Given the description of an element on the screen output the (x, y) to click on. 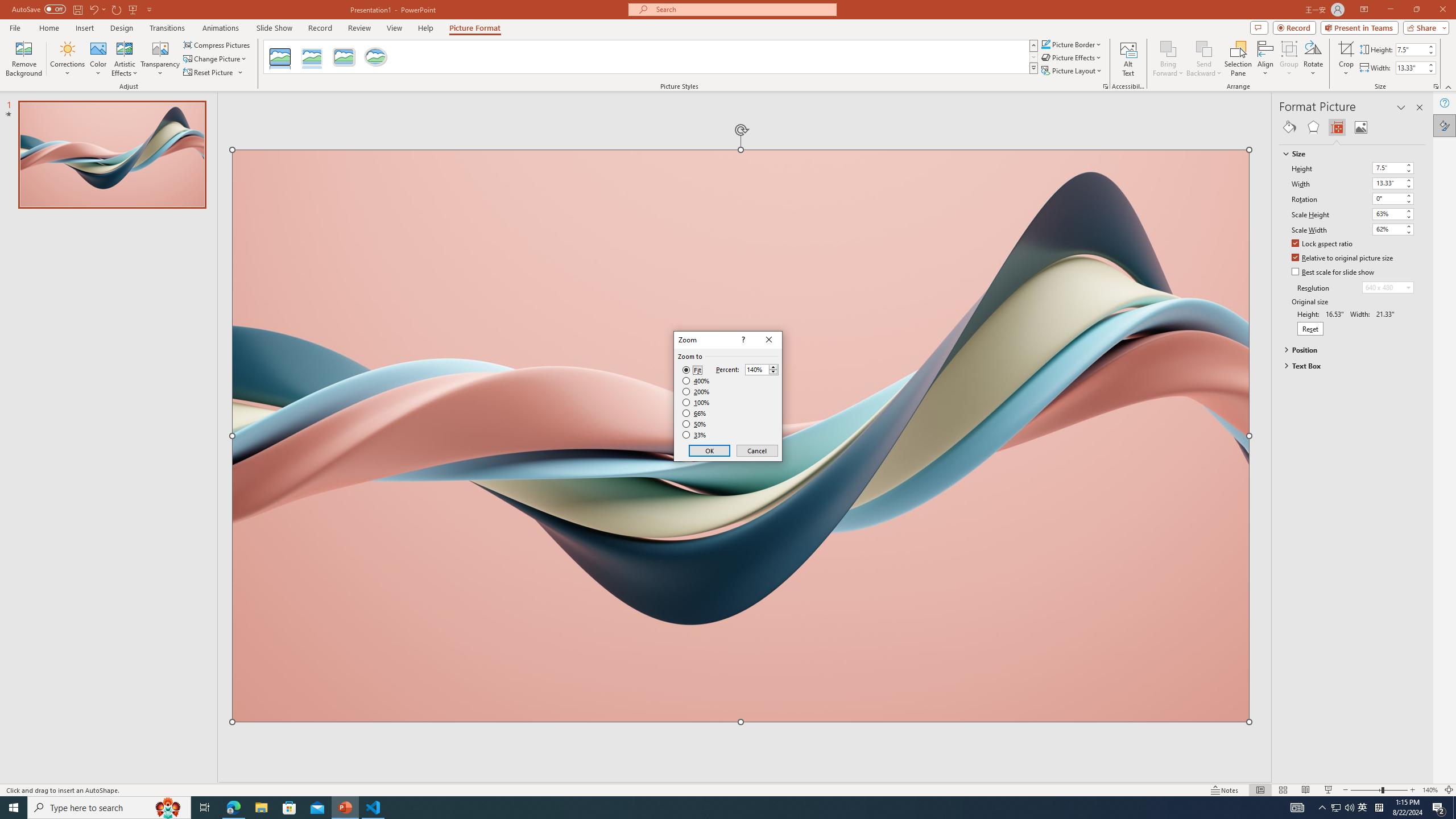
Reflected Bevel, White (312, 56)
Picture (1361, 126)
Size and Position... (1435, 85)
Align (1264, 58)
Width (1388, 182)
Selection Pane... (1238, 58)
100% (696, 402)
Reset Picture (214, 72)
Effects (1313, 126)
66% (694, 412)
